Given the description of an element on the screen output the (x, y) to click on. 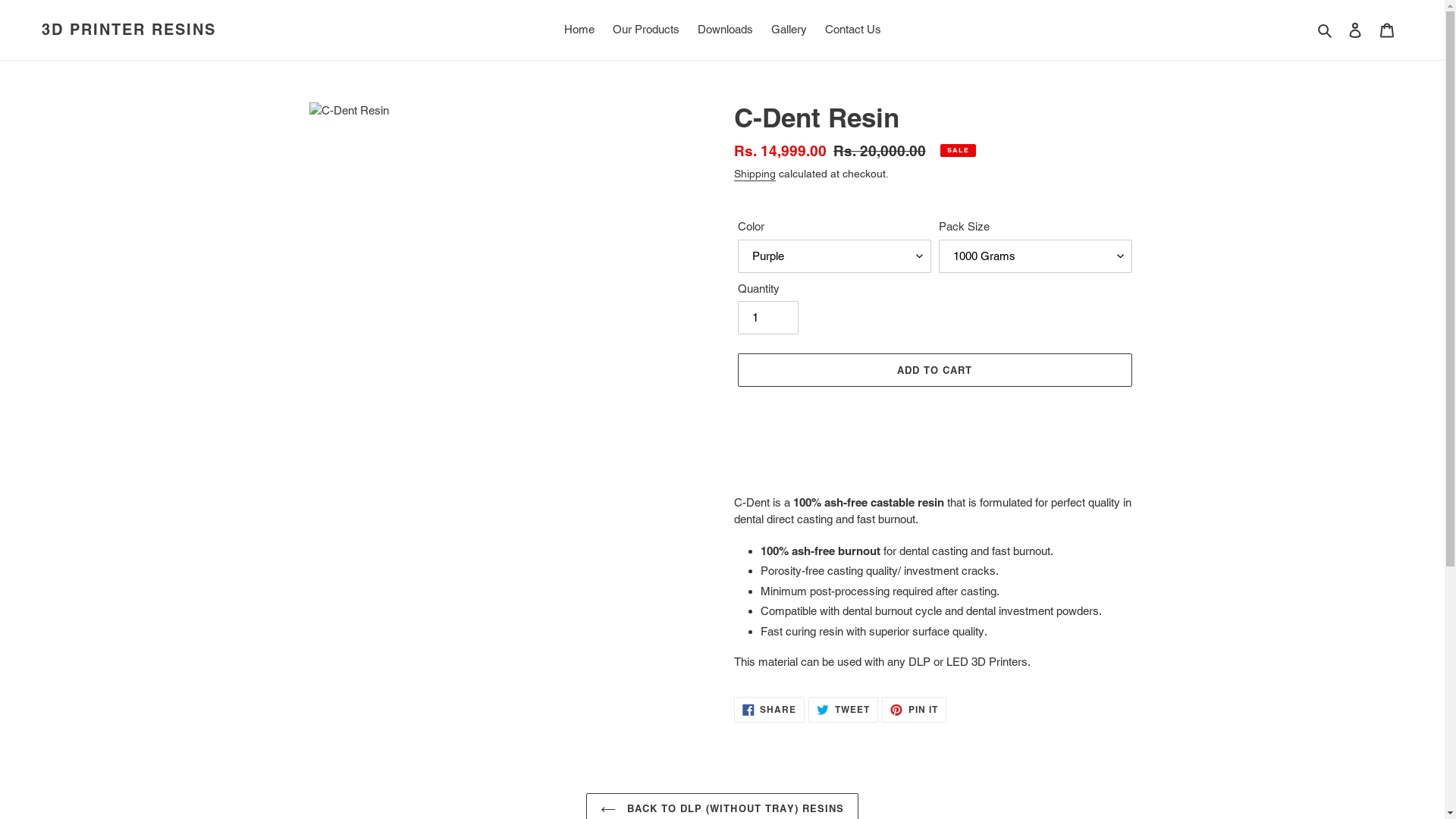
Home Element type: text (579, 29)
Gallery Element type: text (787, 29)
ADD TO CART Element type: text (934, 369)
Log in Element type: text (1355, 29)
Search Element type: text (1325, 29)
Contact Us Element type: text (852, 29)
Downloads Element type: text (725, 29)
TWEET
TWEET ON TWITTER Element type: text (843, 709)
Our Products Element type: text (646, 29)
PIN IT
PIN ON PINTEREST Element type: text (913, 709)
Shipping Element type: text (754, 174)
Cart Element type: text (1386, 29)
SHARE
SHARE ON FACEBOOK Element type: text (769, 709)
3D PRINTER RESINS Element type: text (128, 29)
